Given the description of an element on the screen output the (x, y) to click on. 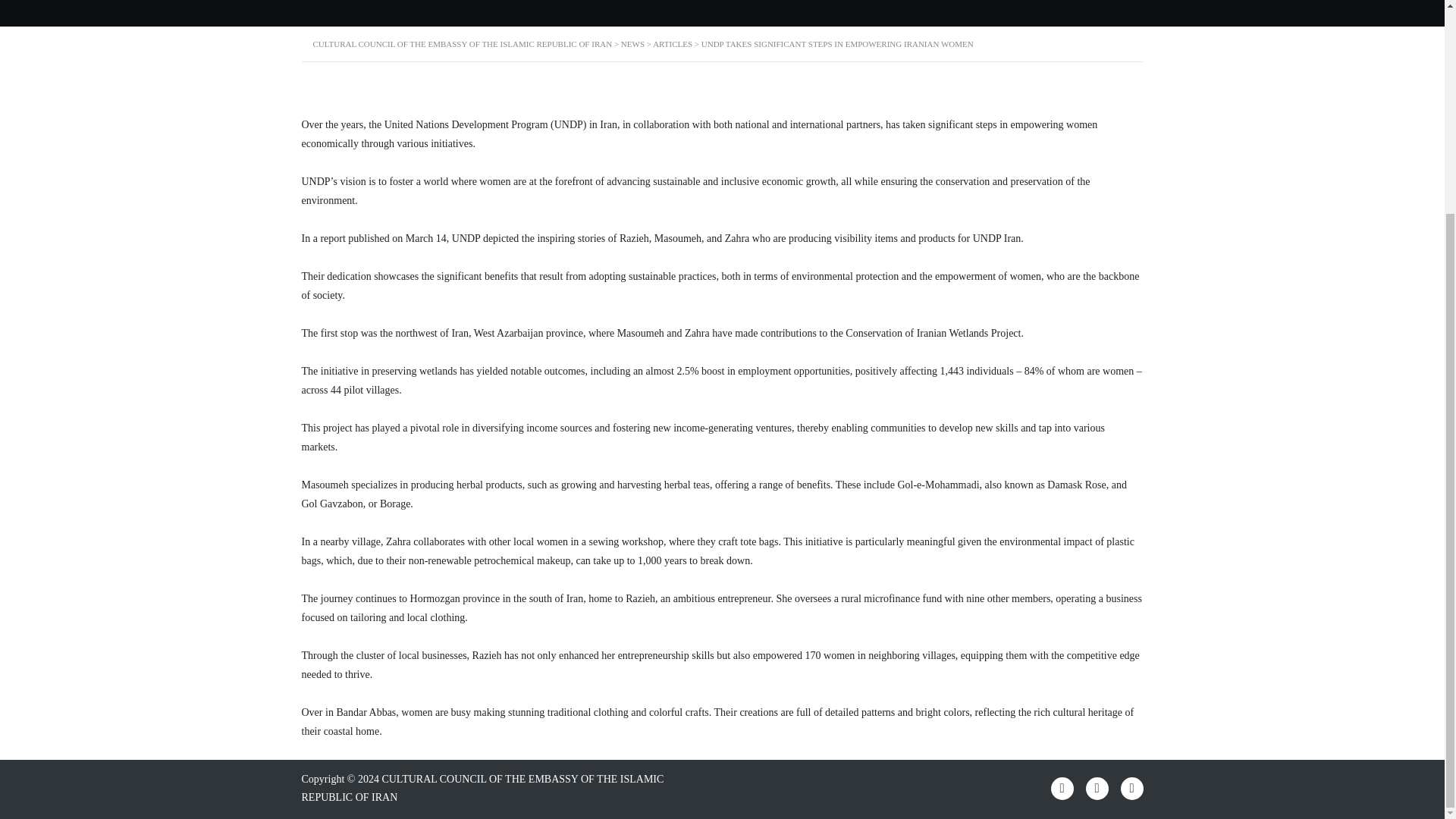
NEWS (633, 43)
Go to News. (633, 43)
ARTICLES (672, 43)
Go to the Articles Category archives. (672, 43)
